Given the description of an element on the screen output the (x, y) to click on. 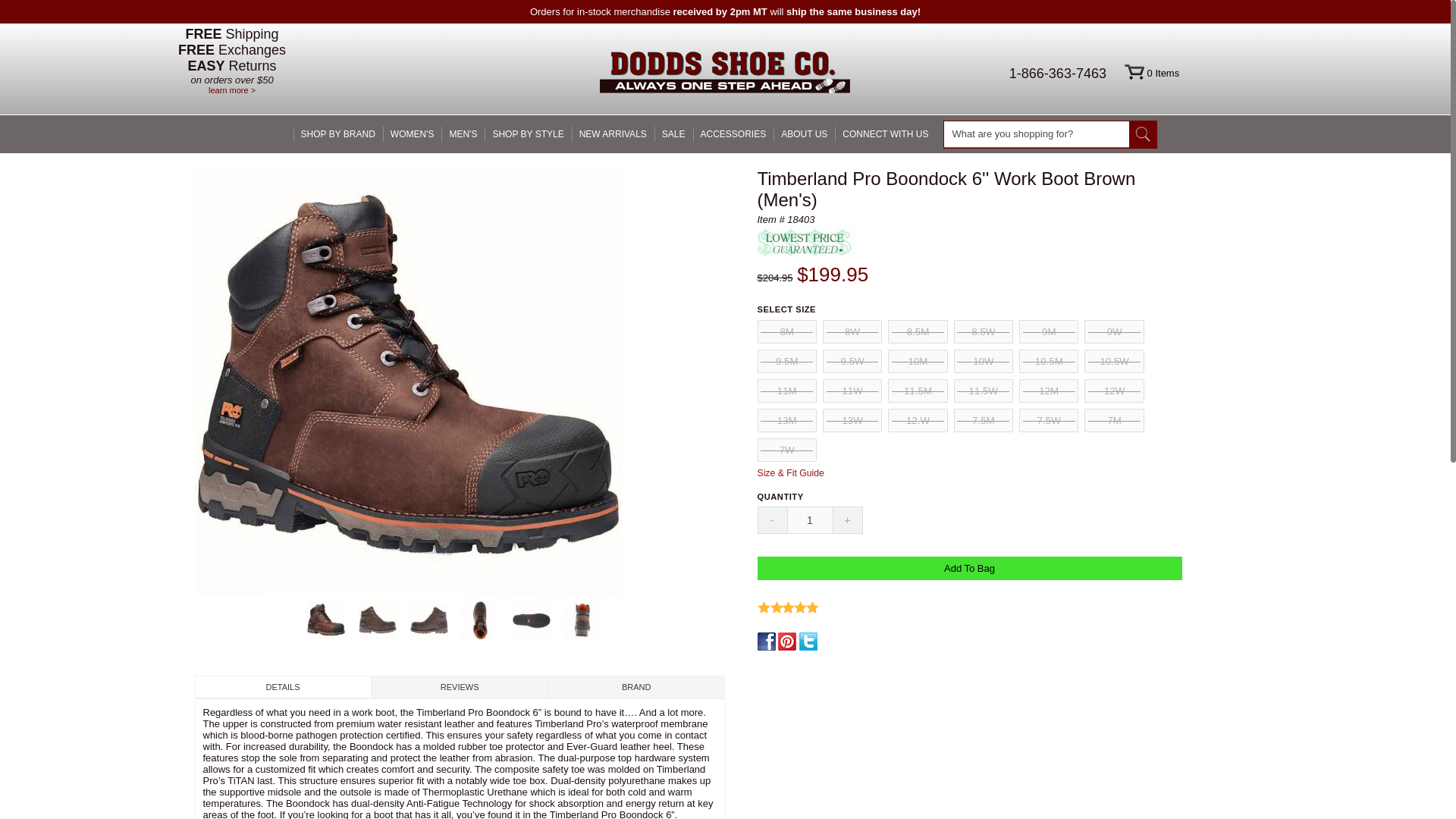
SHOP BY BRAND (338, 134)
SHOP BY STYLE (527, 134)
What are you shopping for? (1035, 134)
Shipping Information (232, 90)
SHOP BY BRAND (338, 134)
WOMEN'S (412, 134)
0 Items (1151, 72)
Add To Bag (968, 567)
1 (809, 519)
MEN'S (462, 134)
Go (1143, 134)
Dodds Shoe Co. (724, 74)
WOMEN'S (412, 134)
